Given the description of an element on the screen output the (x, y) to click on. 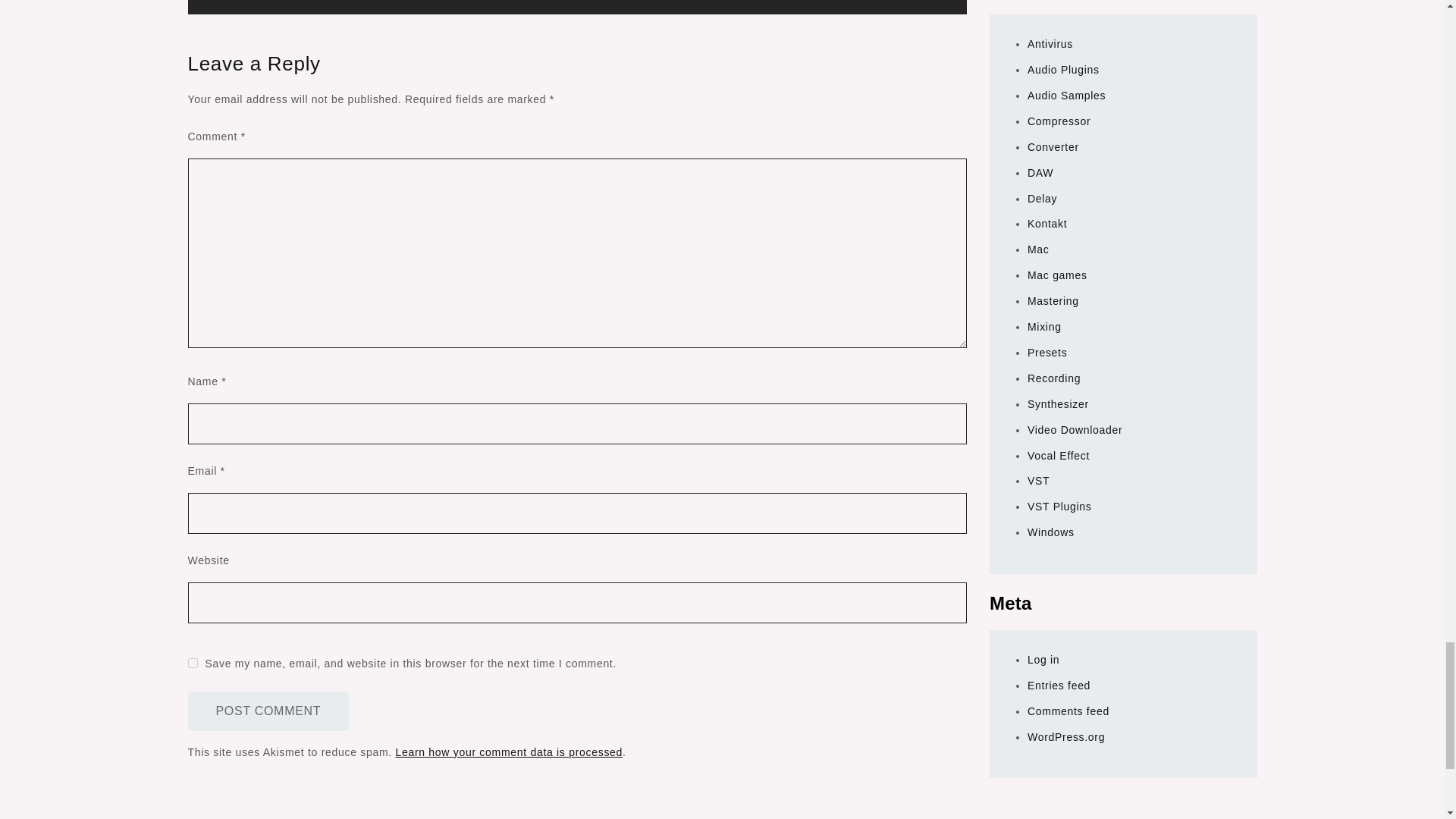
Post Comment (268, 711)
yes (192, 663)
